Given the description of an element on the screen output the (x, y) to click on. 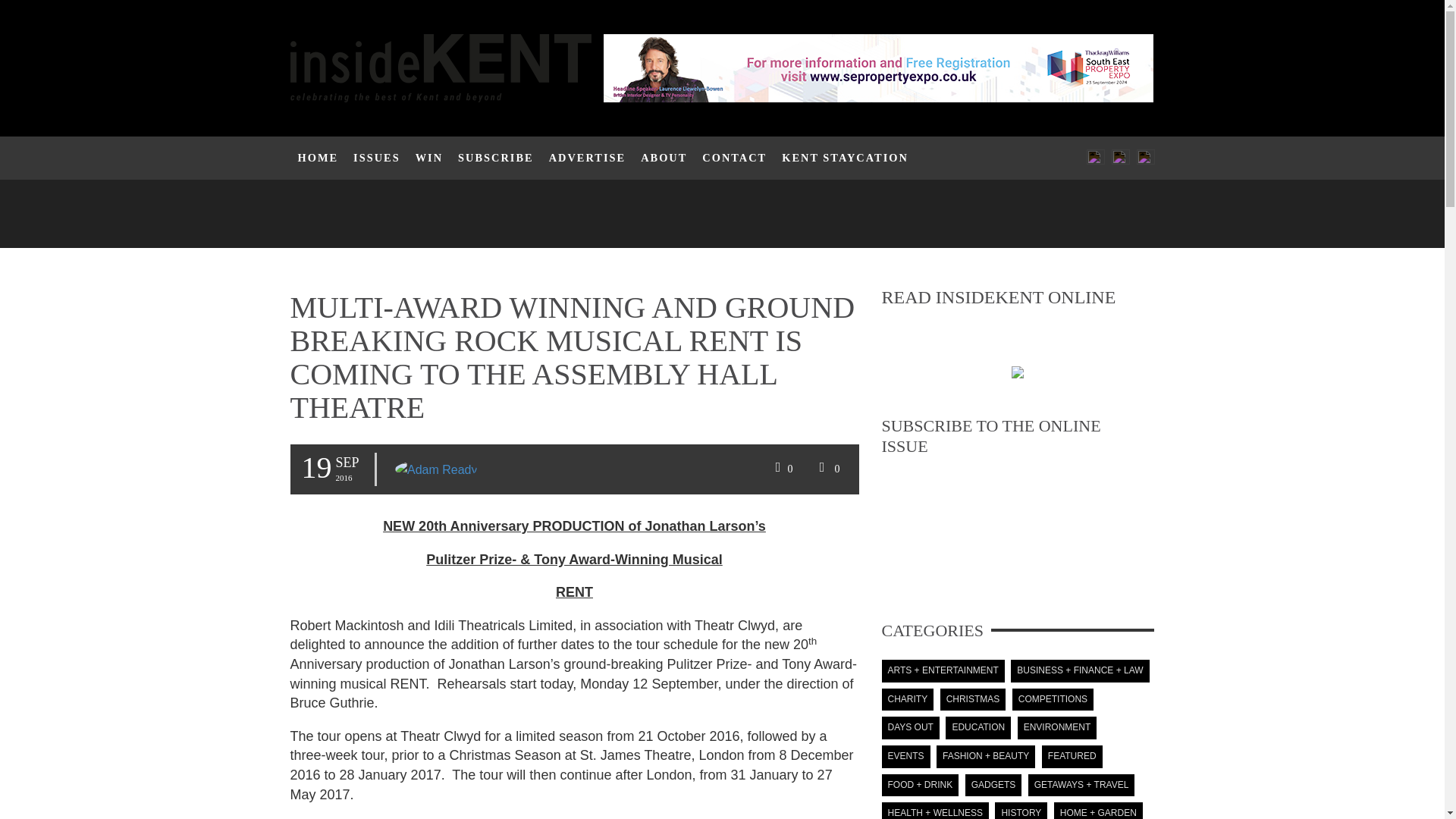
KENT STAYCATION (844, 158)
SUBSCRIBE (495, 158)
HOME (317, 158)
View all posts by Adam Ready (435, 469)
ABOUT (663, 158)
CONTACT (734, 158)
0 (781, 469)
ADVERTISE (587, 158)
0 (827, 469)
I like this (781, 469)
